Given the description of an element on the screen output the (x, y) to click on. 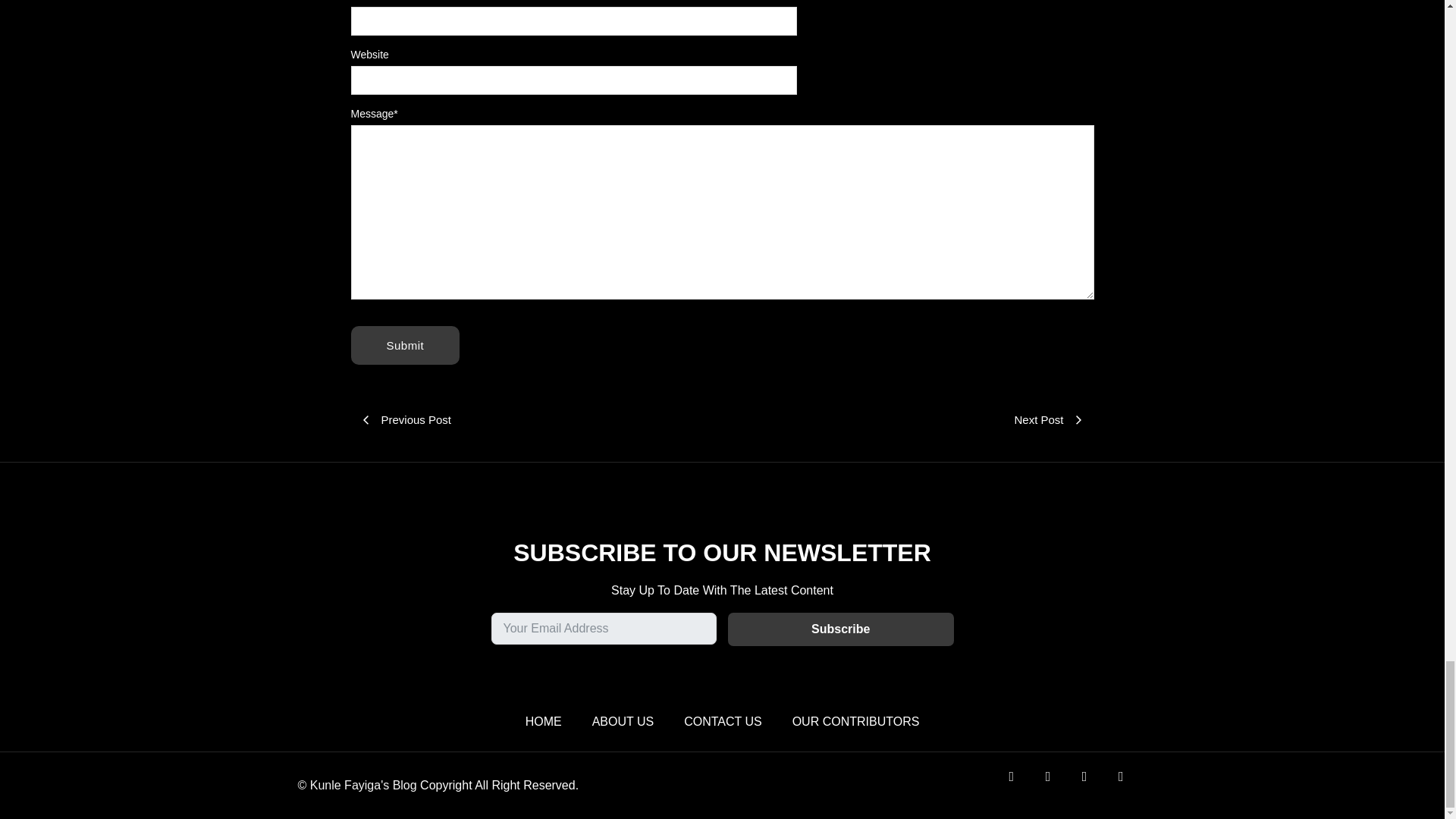
Twitter (1057, 785)
Submit (405, 344)
OUR CONTRIBUTORS (856, 721)
Facebook-f (1020, 785)
Previous Post (536, 419)
Next Post (907, 419)
ABOUT US (622, 721)
HOME (543, 721)
Subscribe (840, 629)
CONTACT US (722, 721)
Linkedin (1130, 785)
Submit (405, 344)
Instagram (1093, 785)
